Given the description of an element on the screen output the (x, y) to click on. 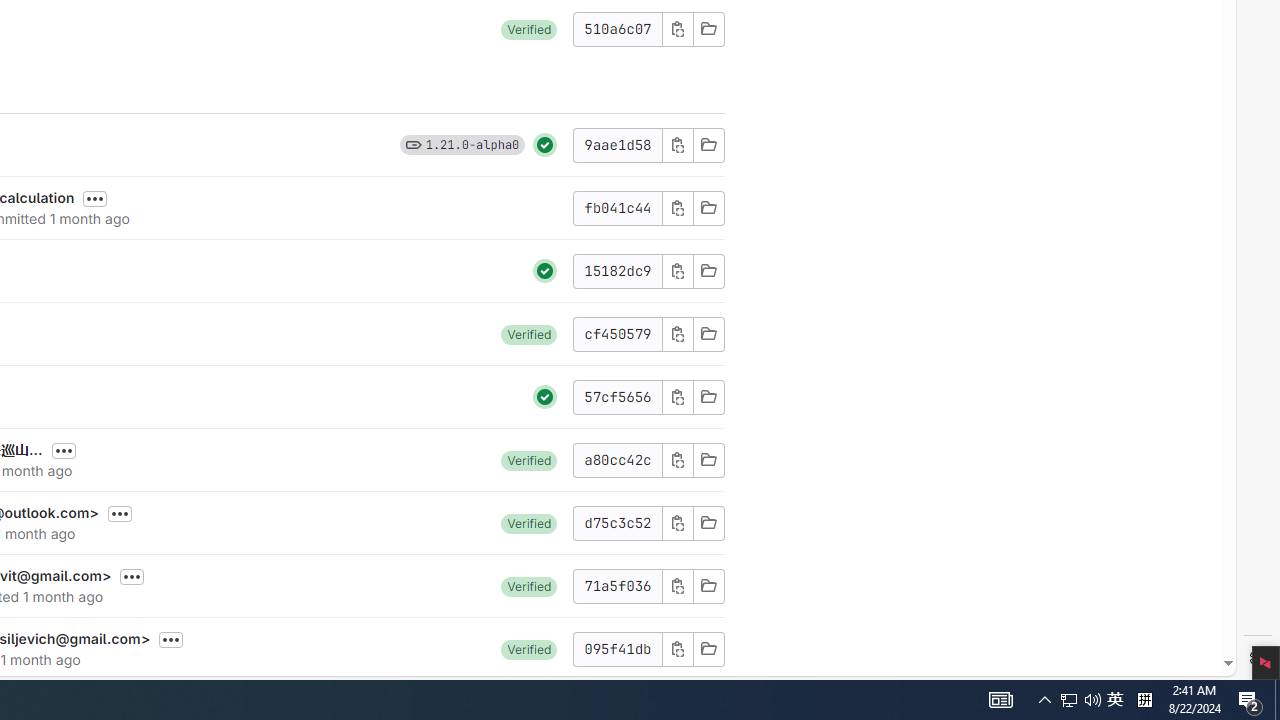
Pipeline: passed (545, 396)
Verified (529, 648)
Class: s16 gl-icon gl-button-icon  (1115, 699)
Class: s24 gl-icon (677, 648)
Class: s16 gl-icon gl-badge-icon (545, 396)
Tray Input Indicator - Chinese (Simplified, China) (413, 144)
Action Center, 2 new notifications (1144, 699)
AutomationID: 4105 (1250, 699)
Browse Files (1000, 699)
Settings (708, 648)
Q2790: 100% (1258, 658)
Copy commit SHA (1092, 699)
